Given the description of an element on the screen output the (x, y) to click on. 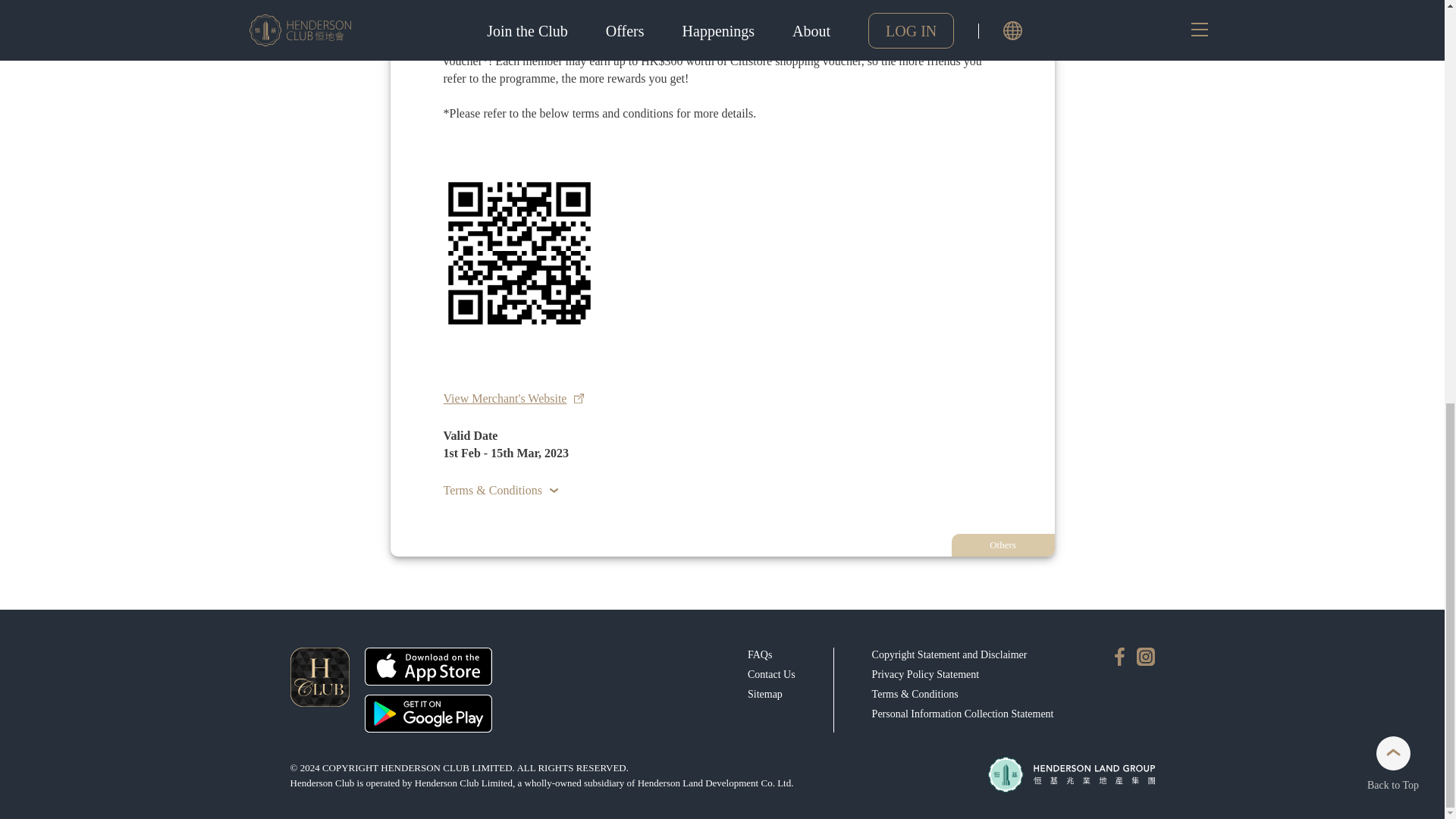
FAQs (759, 655)
Copyright Statement and Disclaimer (949, 655)
Contact Us (771, 674)
View Merchant's Website (512, 398)
Privacy Policy Statement (925, 674)
Sitemap (765, 694)
Personal Information Collection Statement (963, 713)
